Given the description of an element on the screen output the (x, y) to click on. 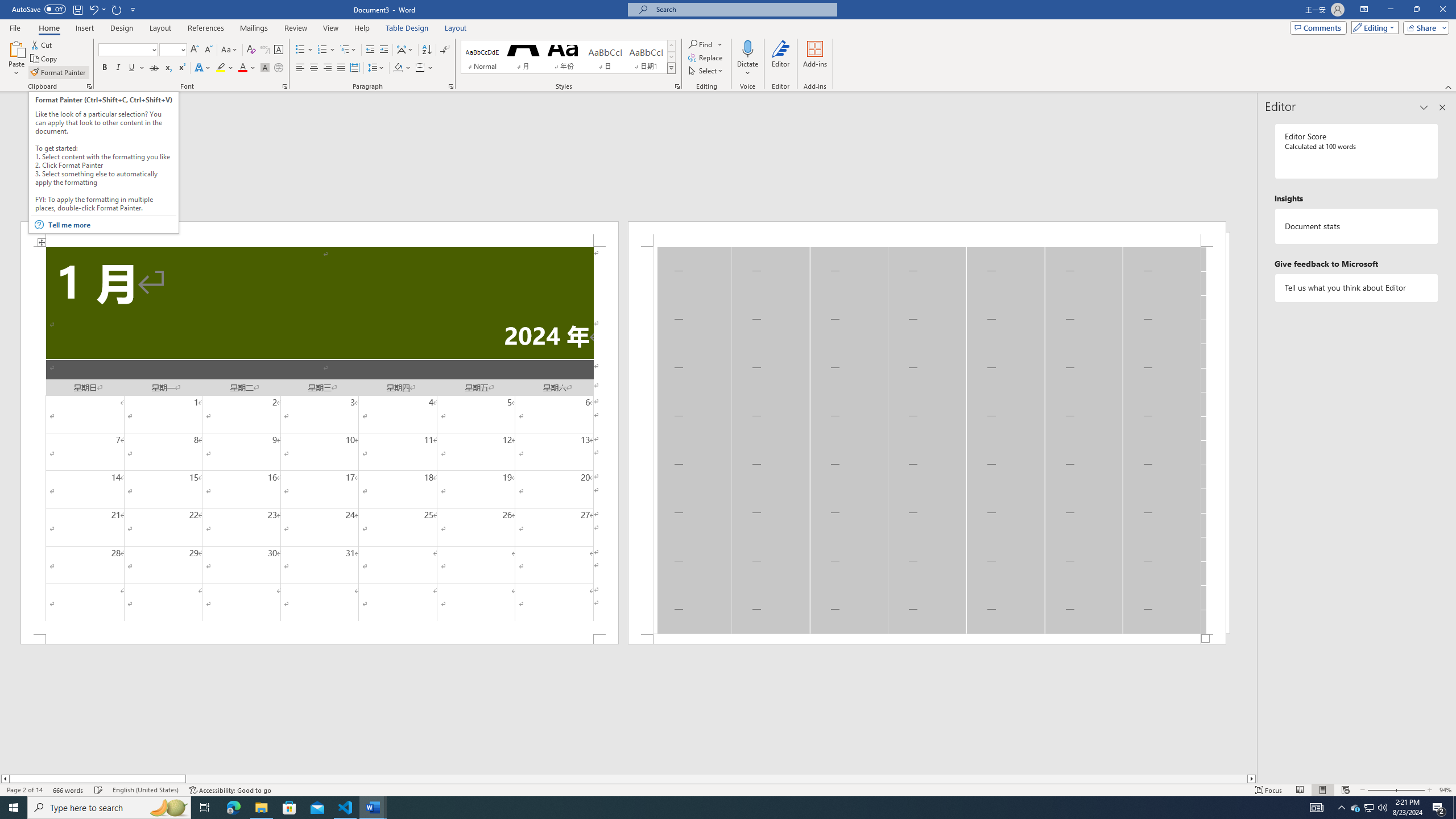
Text Highlight Color (224, 67)
Class: NetUIScrollBar (628, 778)
Multilevel List (347, 49)
Font Color RGB(255, 0, 0) (241, 67)
Text Highlight Color Yellow (220, 67)
Tell us what you think about Editor (1356, 288)
Microsoft search (742, 9)
